Given the description of an element on the screen output the (x, y) to click on. 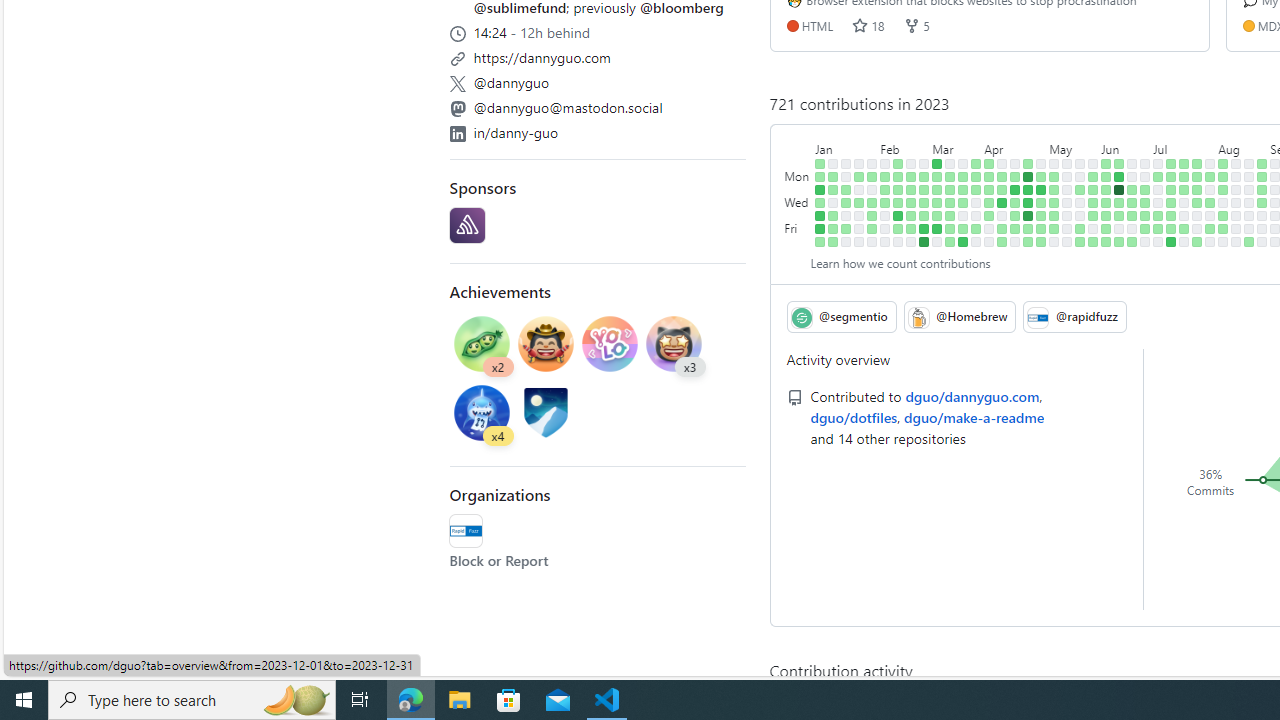
August (1243, 145)
No contributions on February 11th. (885, 241)
No contributions on April 9th. (1002, 163)
No contributions on September 2nd. (1262, 241)
3 contributions on January 13th. (833, 228)
2 contributions on June 27th. (1145, 189)
2 contributions on June 10th. (1106, 241)
No contributions on July 5th. (1158, 202)
No contributions on June 23rd. (1131, 228)
Achievement: Pull Shark (481, 412)
No contributions on January 29th. (872, 163)
forks (911, 25)
Saturday (797, 241)
1 contribution on January 23rd. (859, 176)
No contributions on August 17th. (1236, 215)
